Given the description of an element on the screen output the (x, y) to click on. 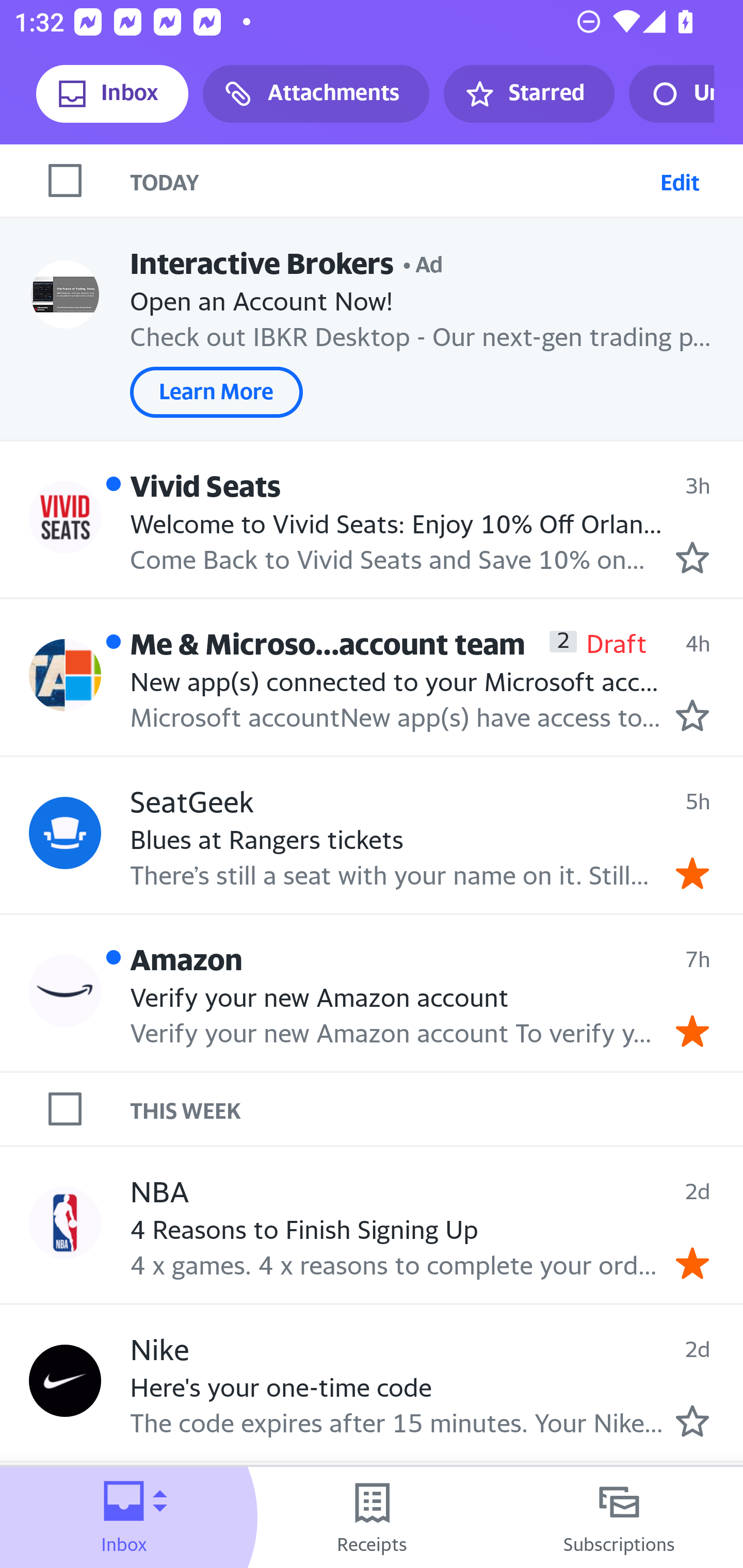
Attachments (315, 93)
Starred (528, 93)
Unread (671, 93)
TODAY (391, 180)
Edit Select emails (679, 180)
Profile
Vivid Seats (64, 517)
Mark as starred. (692, 557)
Profile
Me & Microsoft account team (64, 675)
Mark as starred. (692, 715)
Profile
SeatGeek (64, 832)
Remove star. (692, 872)
Profile
Amazon (64, 990)
Remove star. (692, 1030)
THIS WEEK (436, 1109)
Profile
NBA (64, 1222)
Remove star. (692, 1262)
Profile
Nike (64, 1381)
Mark as starred. (692, 1421)
Inbox Folder picker (123, 1517)
Receipts (371, 1517)
Subscriptions (619, 1517)
